Given the description of an element on the screen output the (x, y) to click on. 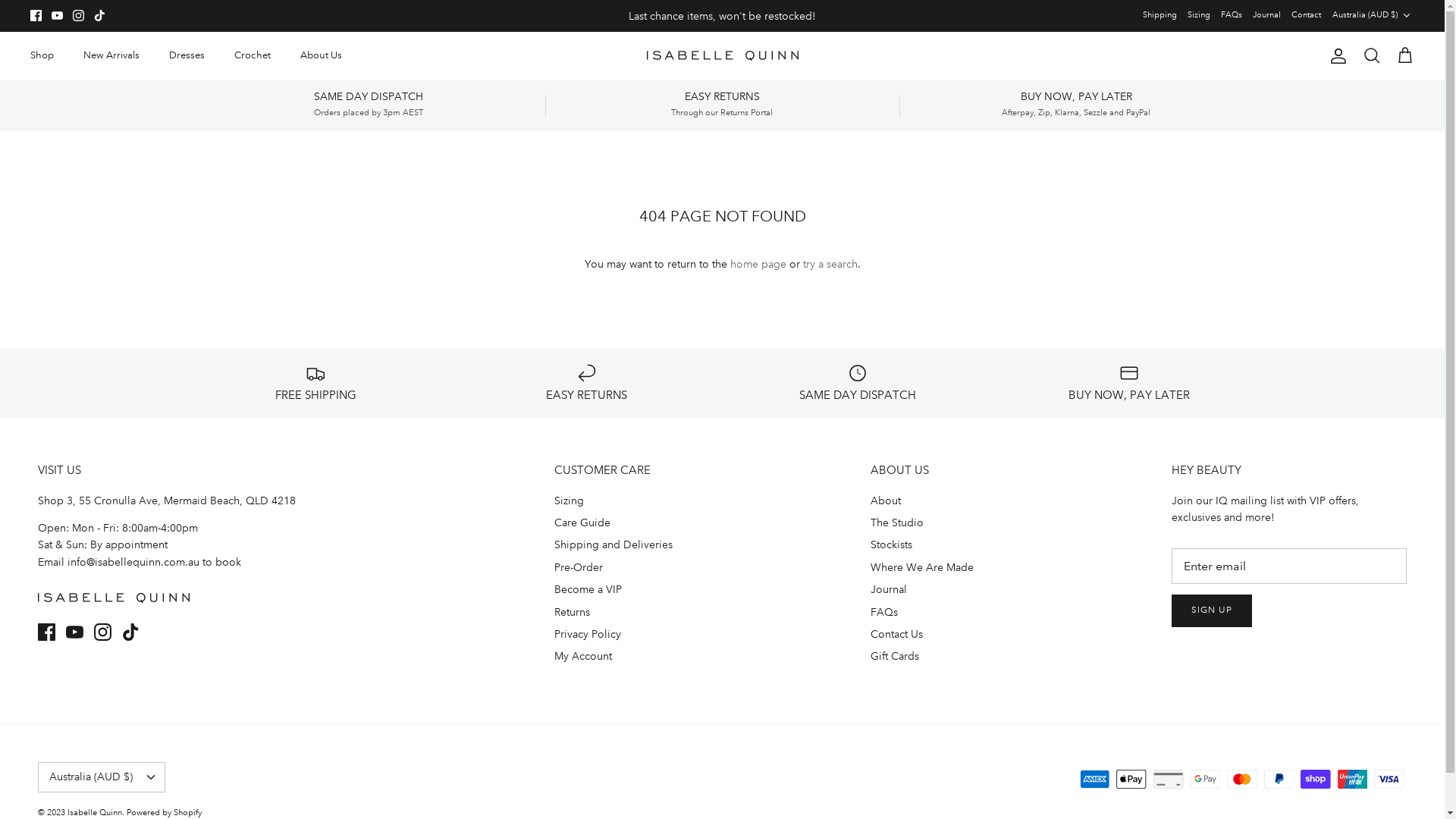
Gift Cards Element type: text (894, 655)
New Arrivals Element type: text (111, 55)
Journal Element type: text (888, 589)
About Us Element type: text (320, 55)
Youtube Element type: text (56, 15)
Sizing Element type: text (1198, 15)
Sizing Element type: text (568, 500)
Shop Element type: text (41, 55)
Australia (AUD $)
Down Element type: text (1373, 15)
Crochet Element type: text (252, 55)
home page Element type: text (757, 263)
Instagram Element type: text (102, 631)
Dresses Element type: text (186, 55)
About Element type: text (885, 500)
Australia (AUD $)
Down Element type: text (101, 777)
FAQs Element type: text (1231, 15)
Search Element type: text (1371, 55)
Shipping and Deliveries Element type: text (613, 544)
My Account Element type: text (582, 655)
Privacy Policy Element type: text (587, 633)
Isabelle Quinn Element type: hover (721, 55)
Shipping Element type: text (1159, 15)
Journal Element type: text (1266, 15)
Youtube Element type: text (74, 631)
The Studio Element type: text (896, 522)
Stockists Element type: text (891, 544)
Become a VIP Element type: text (587, 589)
Instagram Element type: text (78, 15)
SIGN UP Element type: text (1211, 610)
Powered by Shopify Element type: text (163, 812)
Contact Us Element type: text (896, 633)
Where We Are Made Element type: text (921, 567)
Care Guide Element type: text (582, 522)
Contact Element type: text (1306, 15)
Cart Element type: text (1405, 55)
Isabelle Quinn Element type: text (94, 812)
FAQs Element type: text (883, 611)
Facebook Element type: text (35, 15)
Returns Element type: text (571, 611)
Pre-Order Element type: text (578, 567)
Facebook Element type: text (46, 631)
try a search Element type: text (829, 263)
EASY RETURNS
Through our Returns Portal Element type: text (722, 104)
Account Element type: text (1335, 56)
